Given the description of an element on the screen output the (x, y) to click on. 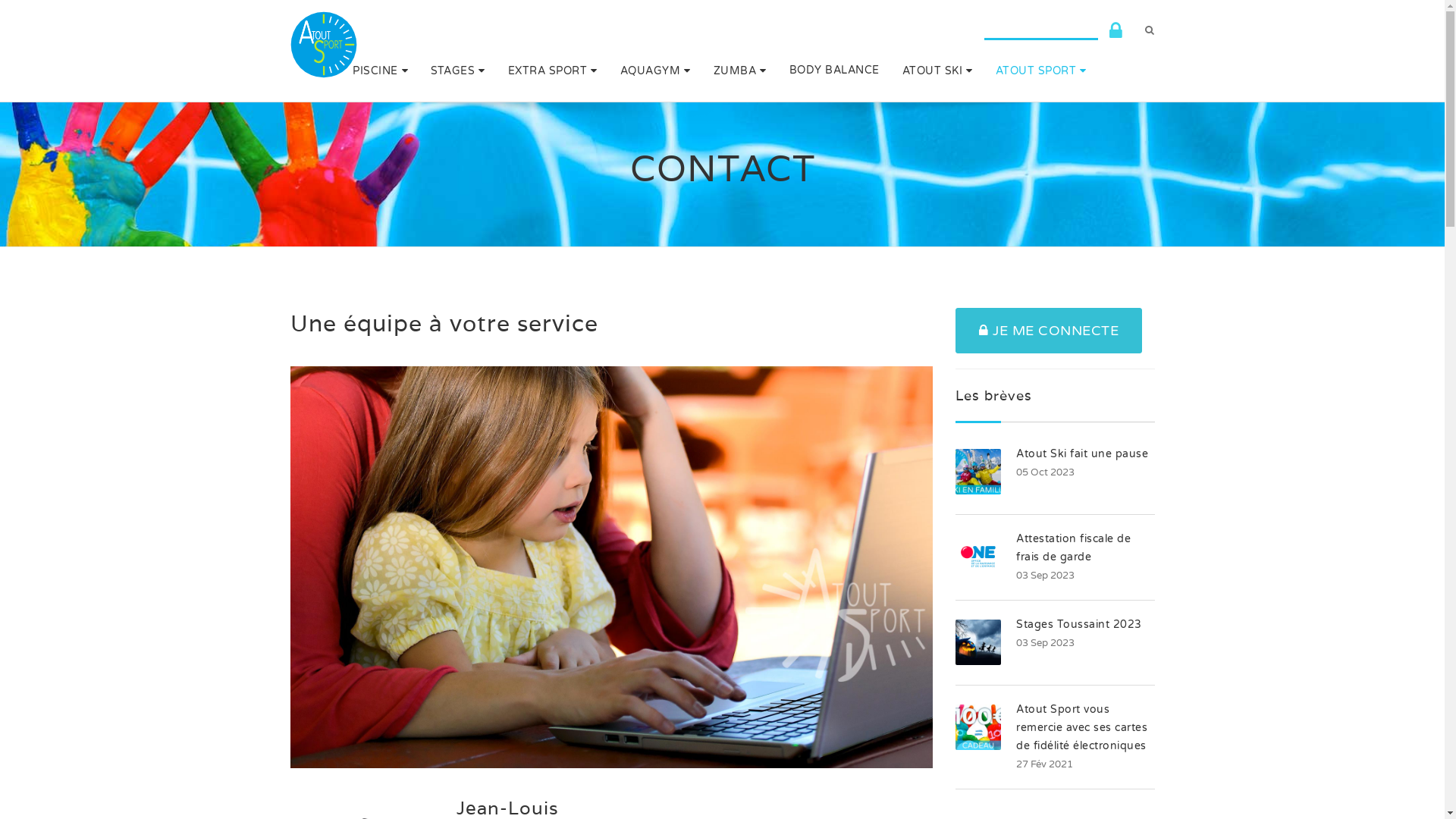
Atout Ski fait une pause Element type: text (1082, 453)
ATOUT SKI Element type: text (936, 69)
BODY BALANCE Element type: text (834, 68)
atoutsport.be_piscine-multisport-stage-siteWeb-nouveau_Une Element type: hover (610, 567)
Attestation fiscale de frais de garde Element type: text (1073, 547)
PISCINE Element type: text (380, 69)
JE ME CONNECTE Element type: text (1048, 330)
STAGES Element type: text (457, 69)
Stages Toussaint 2023 Element type: text (1079, 624)
ZUMBA Element type: text (740, 69)
EXTRA SPORT Element type: text (551, 69)
ATOUT SPORT Element type: text (1041, 69)
AQUAGYM Element type: text (654, 69)
